Given the description of an element on the screen output the (x, y) to click on. 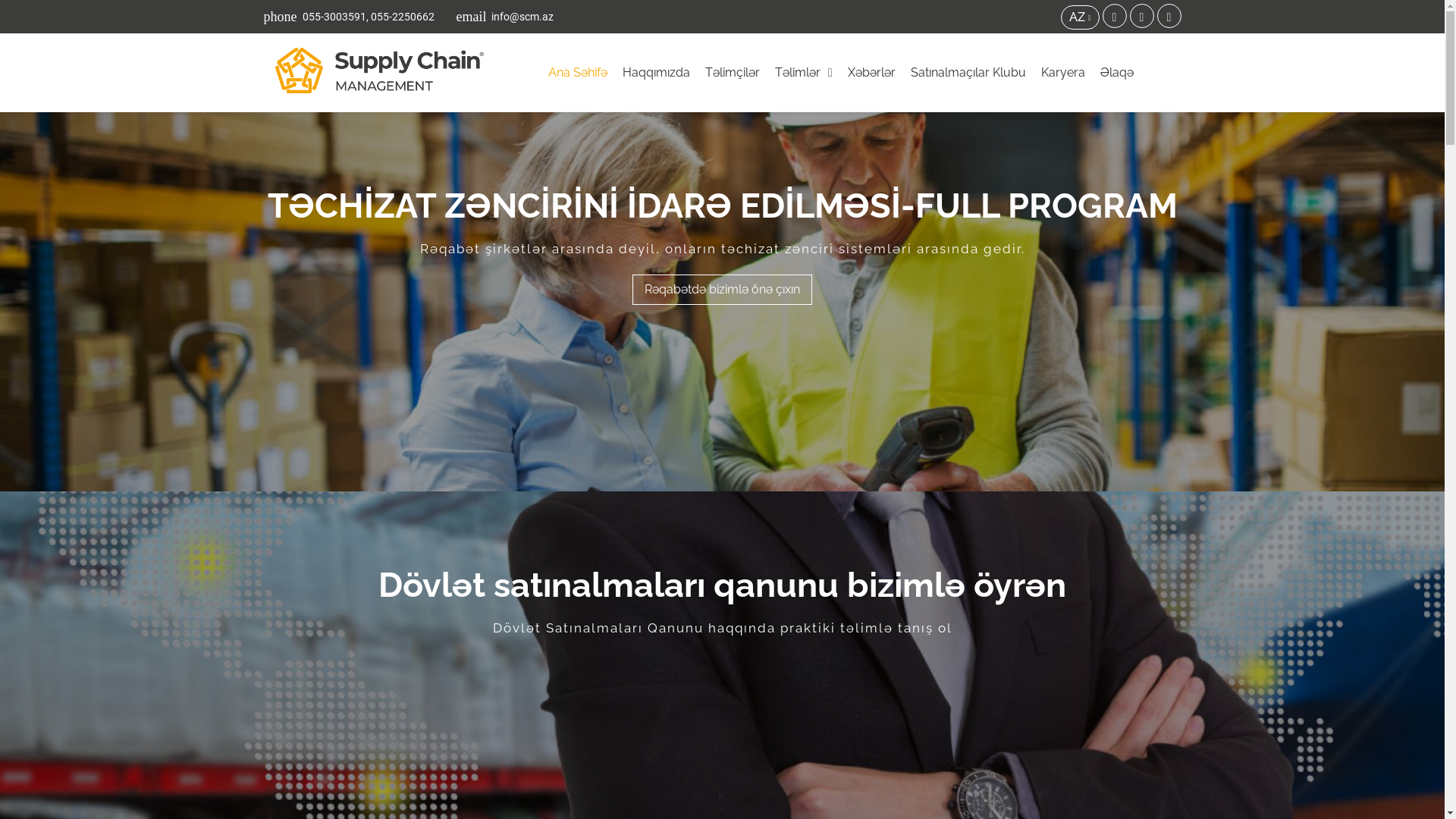
Youtube Element type: hover (1169, 15)
Facebook Element type: hover (1114, 15)
AZ Element type: text (1079, 17)
Karyera Element type: text (1062, 72)
Linked Element type: hover (1141, 15)
